Given the description of an element on the screen output the (x, y) to click on. 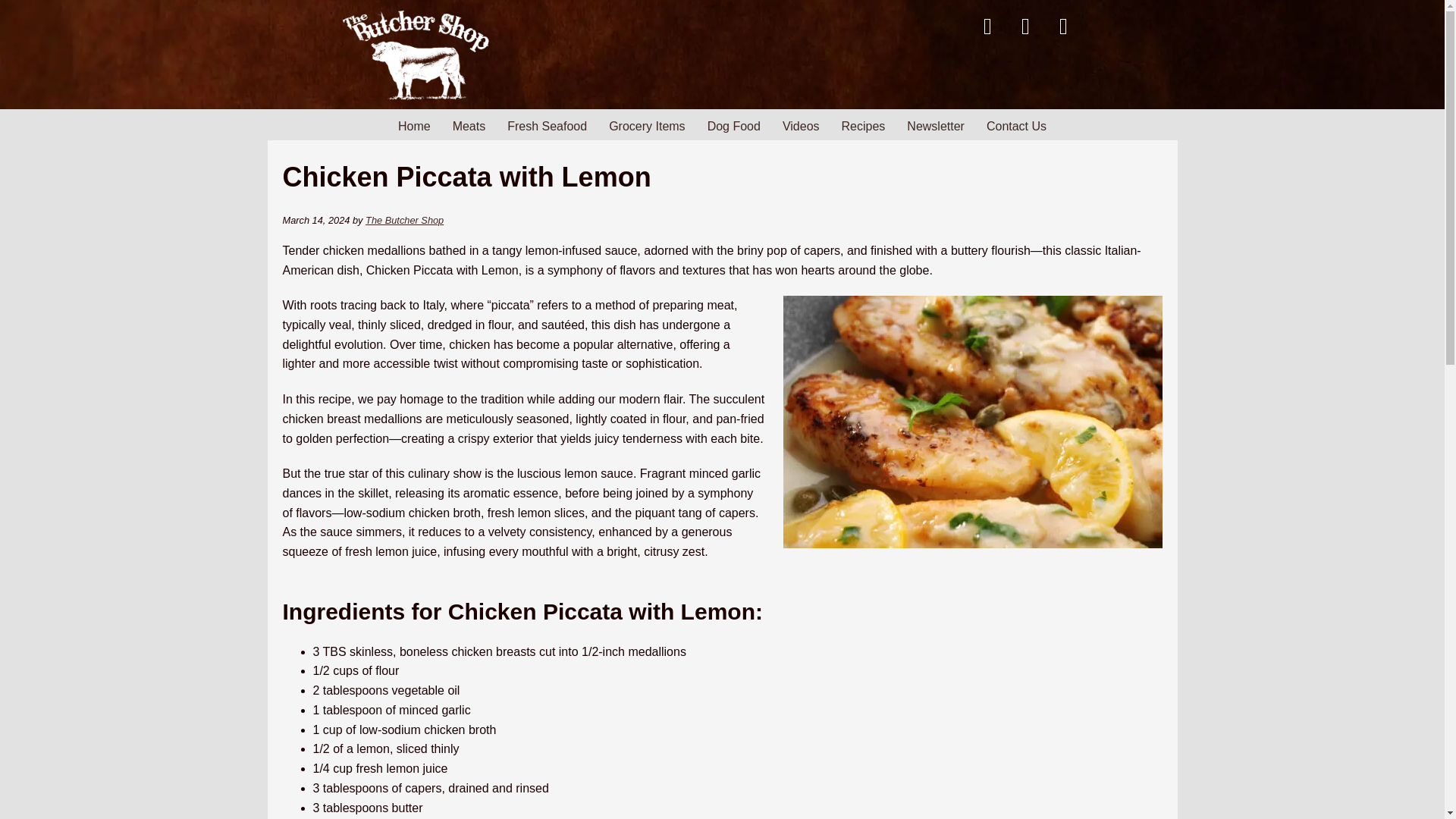
Newsletter (935, 126)
Home (414, 126)
Videos (800, 126)
Recipes (863, 126)
New Logo 2023 white (418, 54)
The Butcher Shop (404, 220)
Fresh Seafood (546, 126)
Contact Us (1016, 126)
Dog Food (734, 126)
Meats (469, 126)
